Given the description of an element on the screen output the (x, y) to click on. 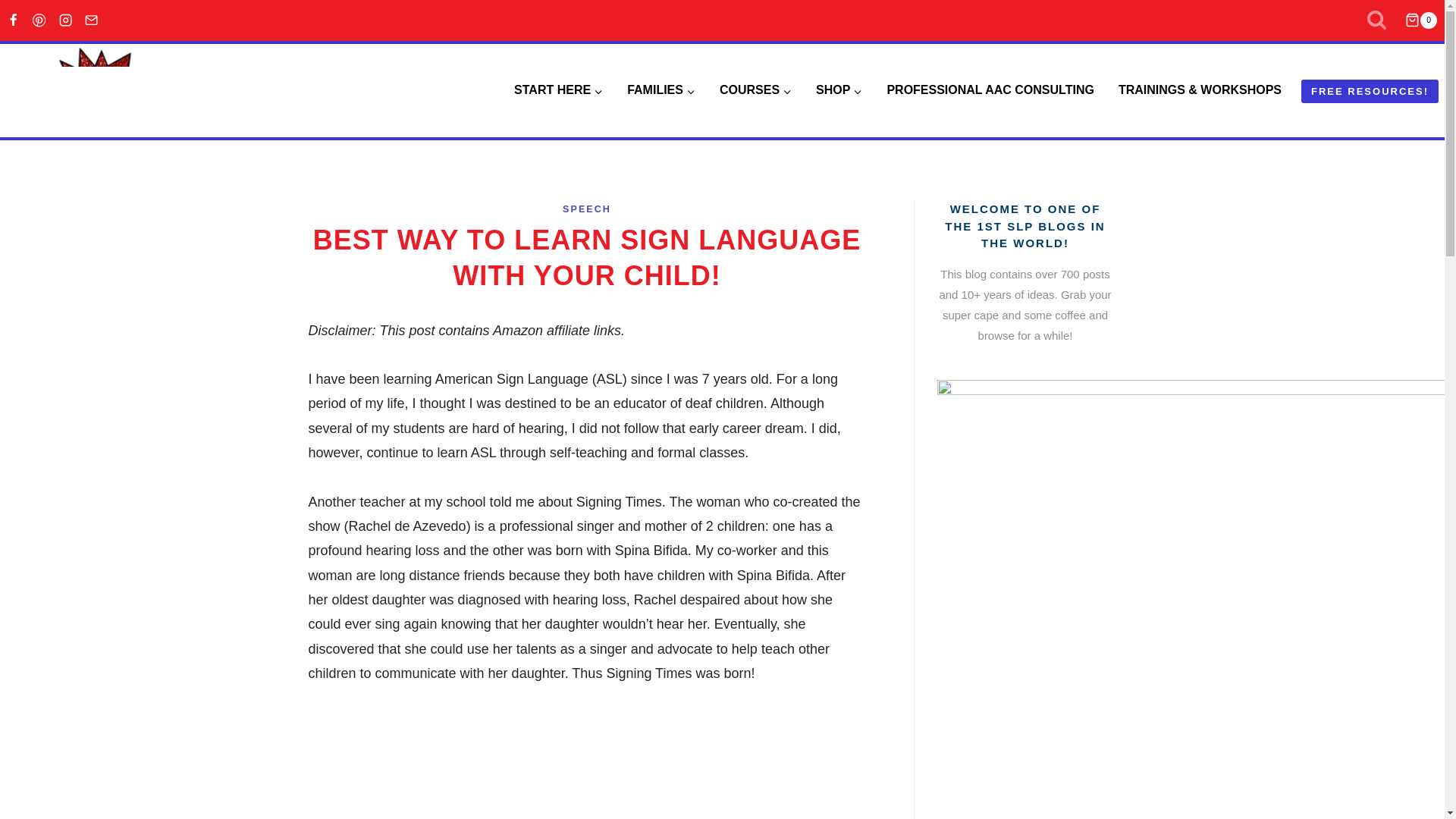
SHOP (839, 90)
FREE RESOURCES! (1369, 91)
START HERE (558, 90)
SPEECH (586, 208)
COURSES (755, 90)
FAMILIES (660, 90)
PROFESSIONAL AAC CONSULTING (990, 90)
